Given the description of an element on the screen output the (x, y) to click on. 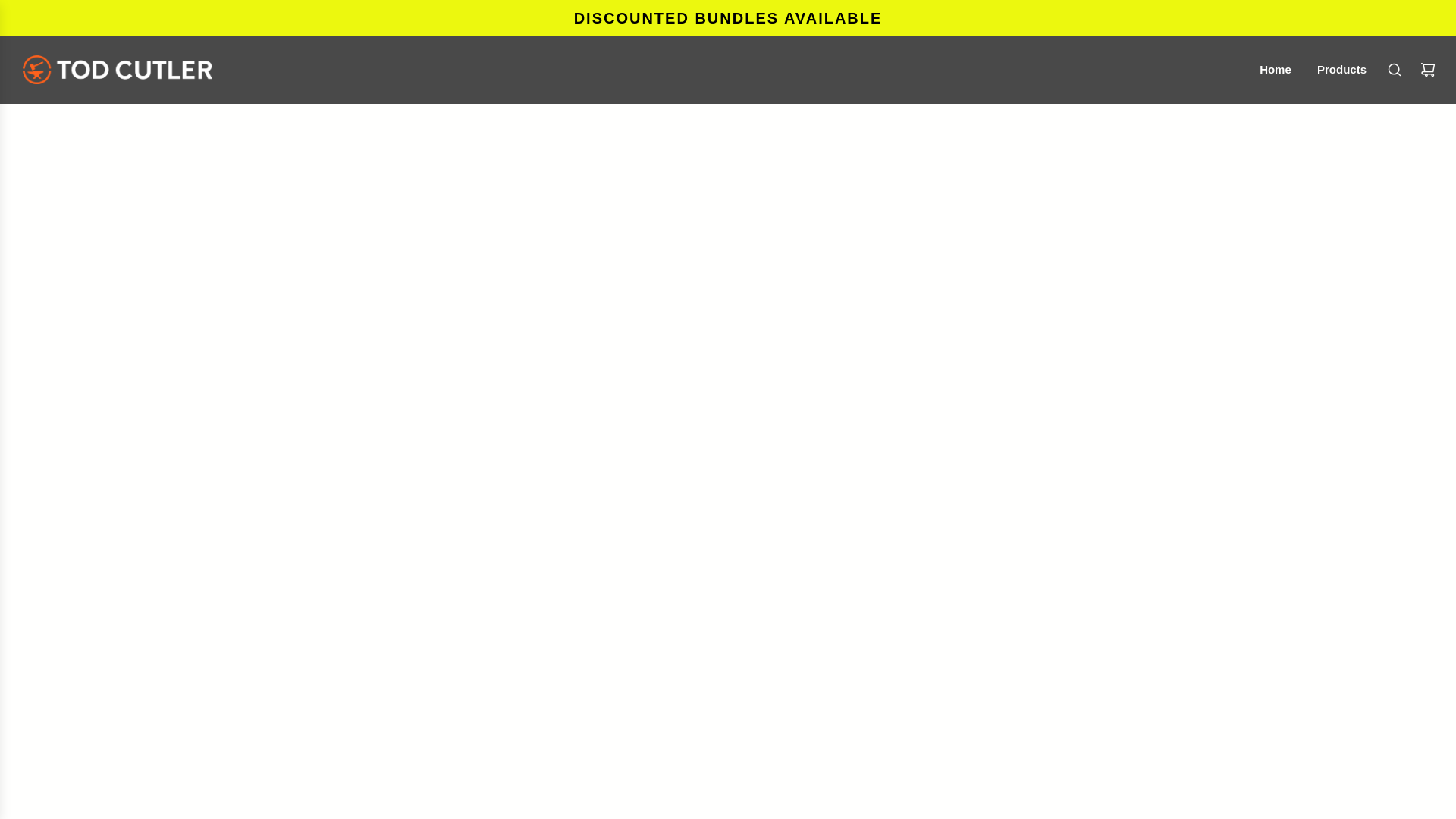
Products (1341, 69)
Home (1275, 69)
